Given the description of an element on the screen output the (x, y) to click on. 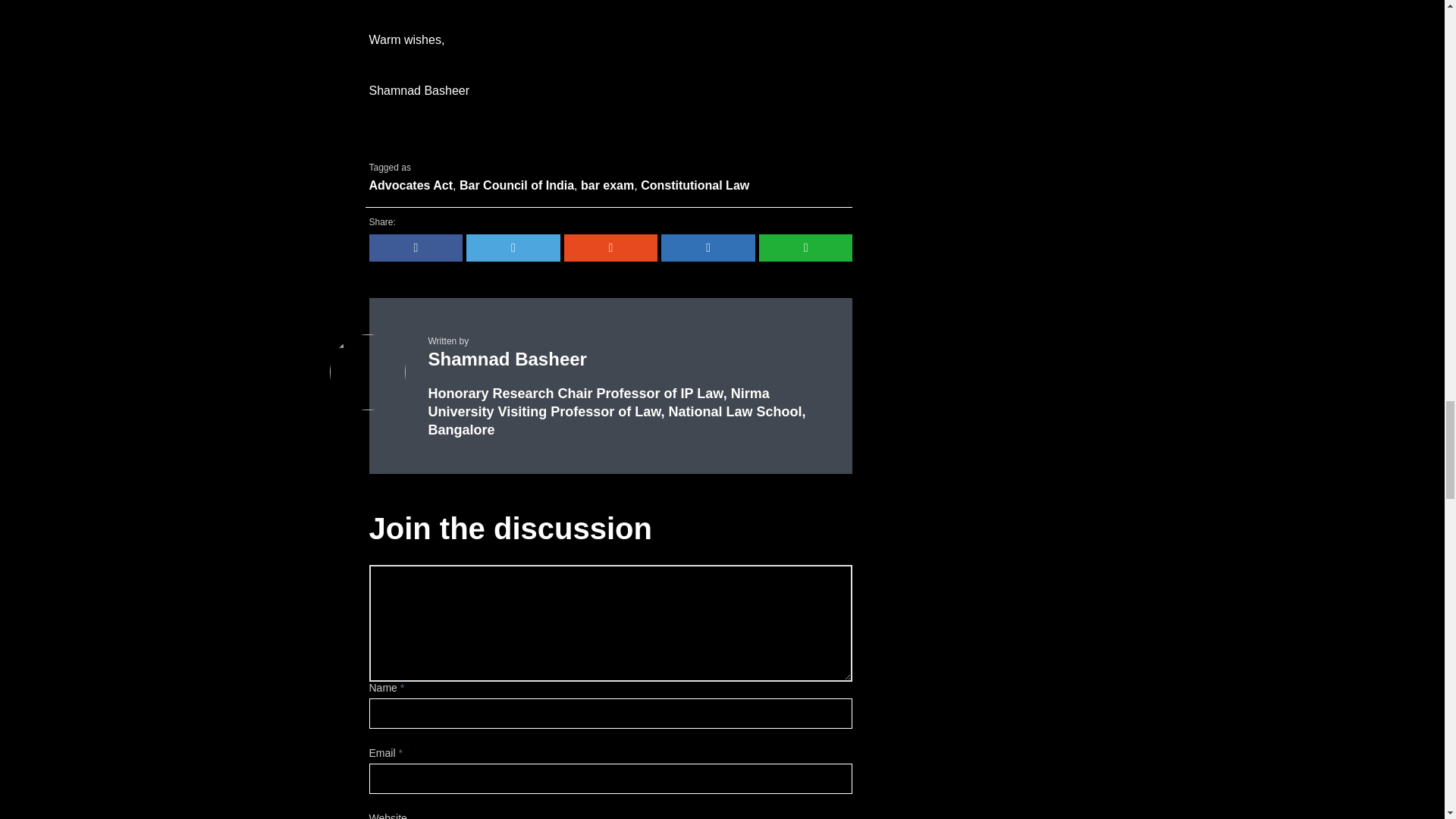
Advocates Act (410, 185)
bar exam (606, 185)
Bar Council of India (516, 185)
Constitutional Law (694, 185)
